Given the description of an element on the screen output the (x, y) to click on. 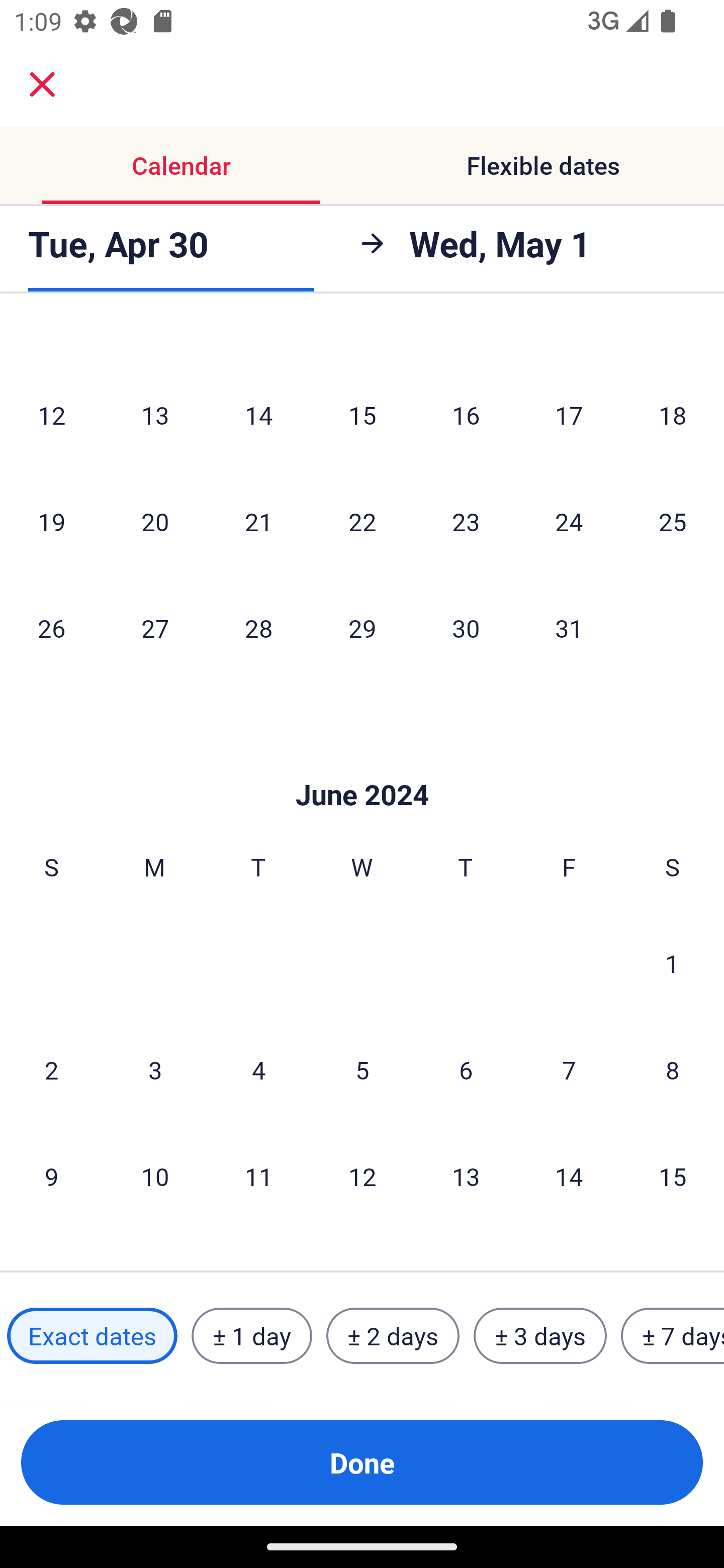
close. (42, 84)
Flexible dates (542, 164)
12 Sunday, May 12, 2024 (51, 414)
13 Monday, May 13, 2024 (155, 414)
14 Tuesday, May 14, 2024 (258, 414)
15 Wednesday, May 15, 2024 (362, 414)
16 Thursday, May 16, 2024 (465, 414)
17 Friday, May 17, 2024 (569, 414)
18 Saturday, May 18, 2024 (672, 414)
19 Sunday, May 19, 2024 (51, 521)
20 Monday, May 20, 2024 (155, 521)
21 Tuesday, May 21, 2024 (258, 521)
22 Wednesday, May 22, 2024 (362, 521)
23 Thursday, May 23, 2024 (465, 521)
24 Friday, May 24, 2024 (569, 521)
25 Saturday, May 25, 2024 (672, 521)
26 Sunday, May 26, 2024 (51, 627)
27 Monday, May 27, 2024 (155, 627)
28 Tuesday, May 28, 2024 (258, 627)
29 Wednesday, May 29, 2024 (362, 627)
30 Thursday, May 30, 2024 (465, 627)
31 Friday, May 31, 2024 (569, 627)
Skip to Done (362, 764)
1 Saturday, June 1, 2024 (672, 962)
2 Sunday, June 2, 2024 (51, 1069)
3 Monday, June 3, 2024 (155, 1069)
4 Tuesday, June 4, 2024 (258, 1069)
5 Wednesday, June 5, 2024 (362, 1069)
6 Thursday, June 6, 2024 (465, 1069)
7 Friday, June 7, 2024 (569, 1069)
8 Saturday, June 8, 2024 (672, 1069)
9 Sunday, June 9, 2024 (51, 1175)
10 Monday, June 10, 2024 (155, 1175)
11 Tuesday, June 11, 2024 (258, 1175)
12 Wednesday, June 12, 2024 (362, 1175)
13 Thursday, June 13, 2024 (465, 1175)
14 Friday, June 14, 2024 (569, 1175)
15 Saturday, June 15, 2024 (672, 1175)
Exact dates (92, 1335)
± 1 day (251, 1335)
± 2 days (392, 1335)
± 3 days (539, 1335)
± 7 days (672, 1335)
Done (361, 1462)
